Given the description of an element on the screen output the (x, y) to click on. 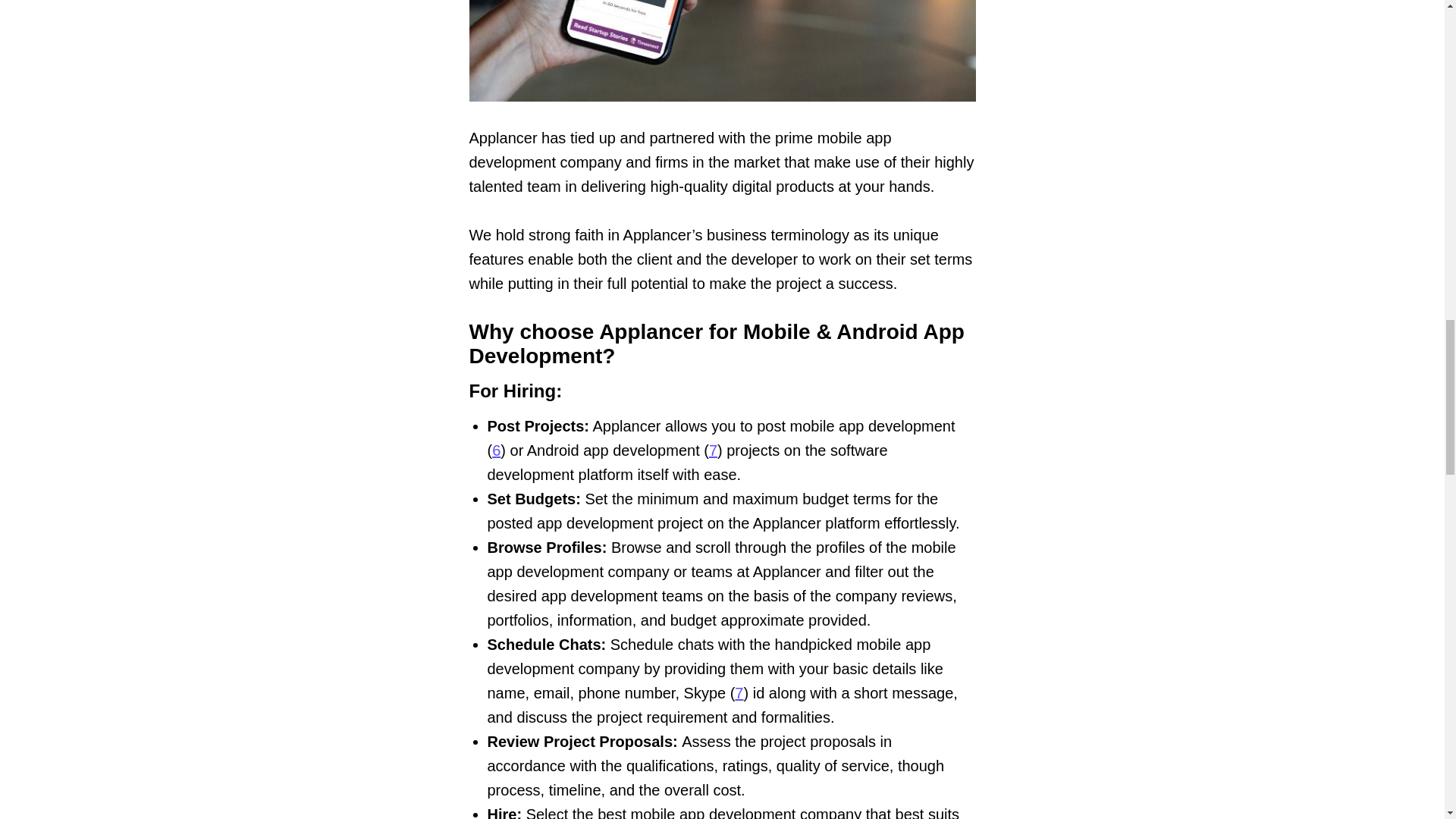
7 (713, 450)
7 (738, 692)
6 (496, 450)
